Given the description of an element on the screen output the (x, y) to click on. 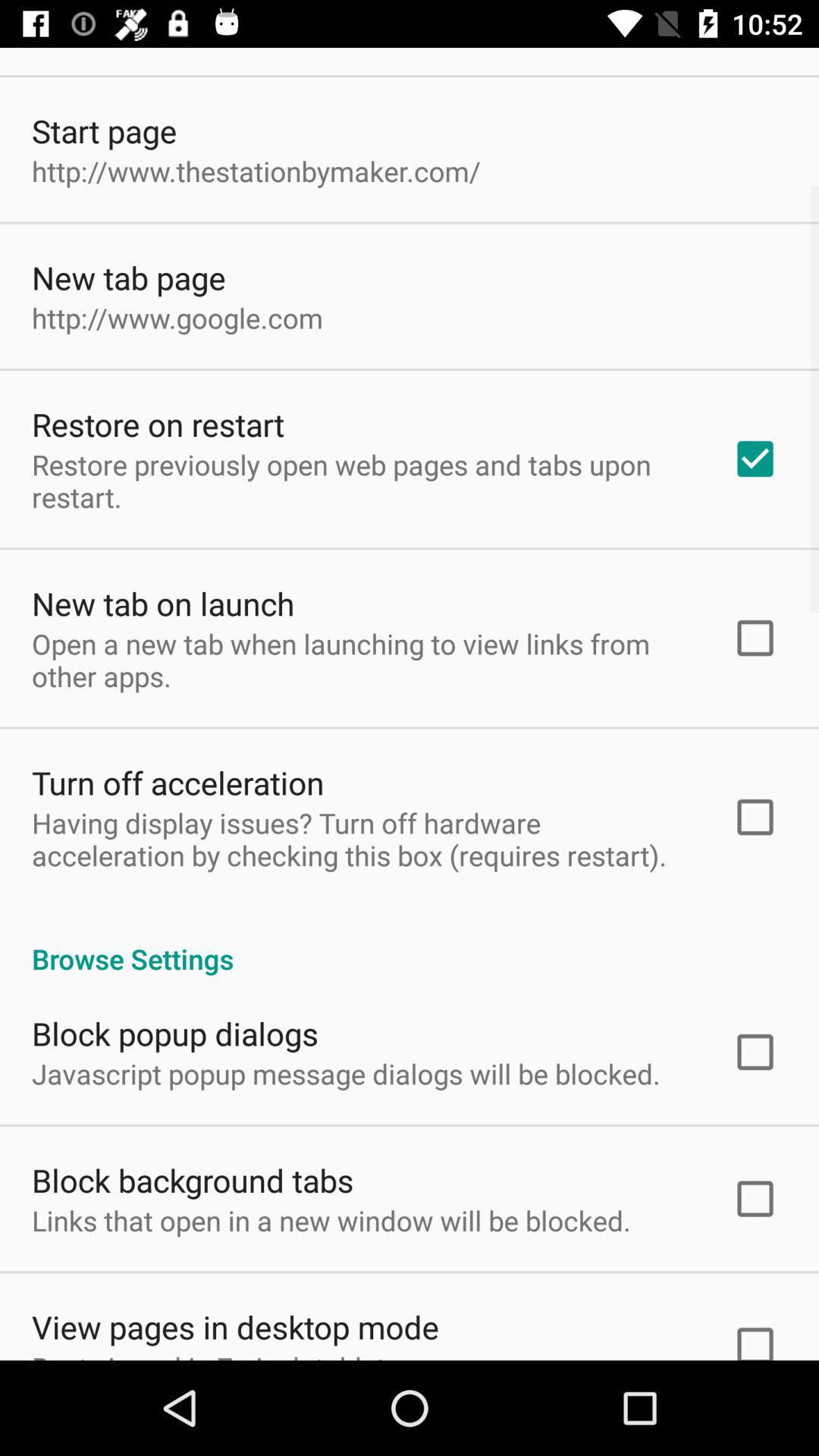
tap item below the restore on restart (361, 480)
